Given the description of an element on the screen output the (x, y) to click on. 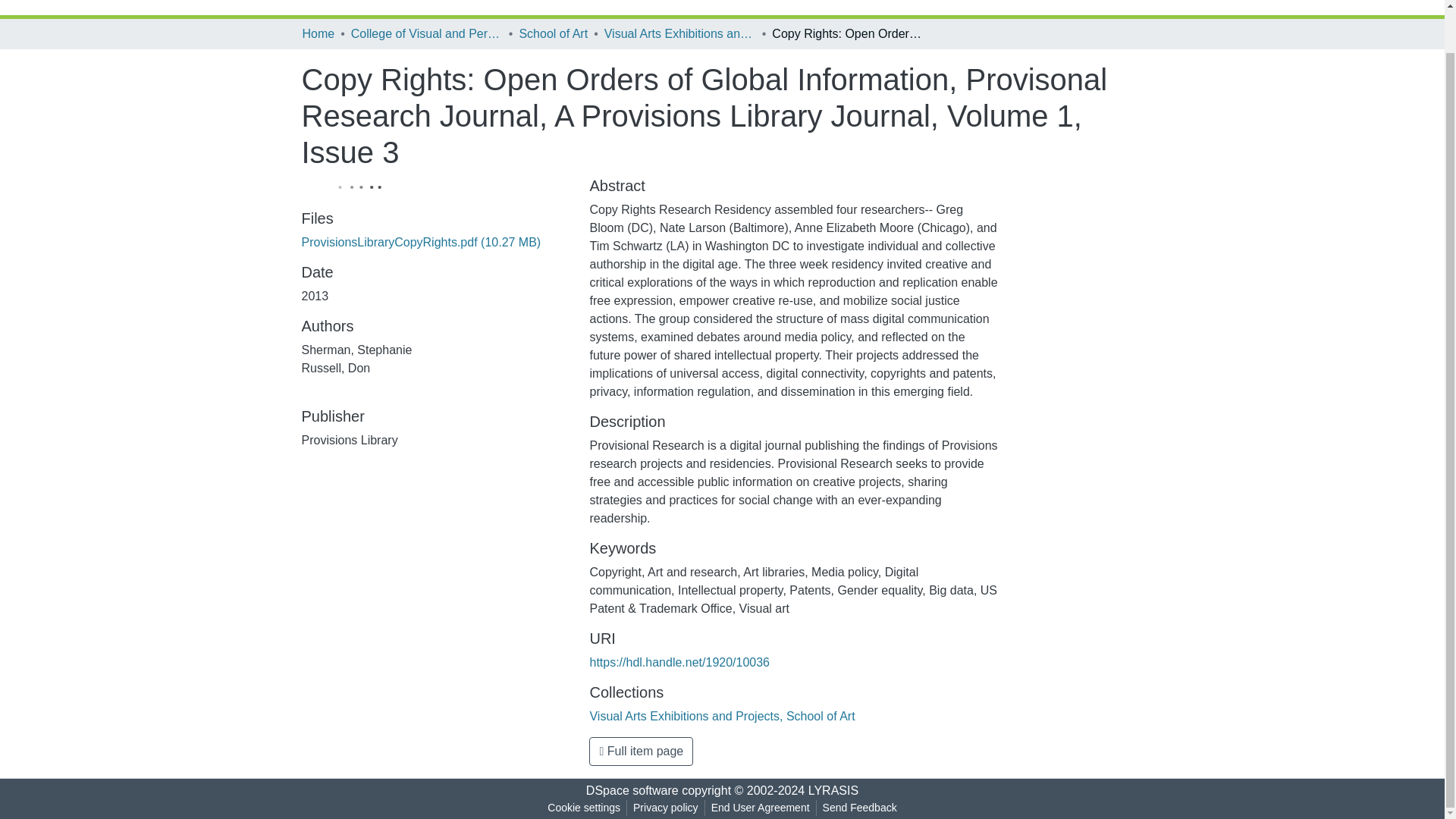
Full item page (641, 751)
End User Agreement (759, 807)
School of Art (553, 34)
LYRASIS (833, 789)
Visual Arts Exhibitions and Projects, School of Art (721, 716)
Visual Arts Exhibitions and Projects, School of Art (679, 34)
Cookie settings (583, 807)
Send Feedback (859, 807)
Home (317, 34)
Privacy policy (665, 807)
DSpace software (632, 789)
College of Visual and Performing Arts (426, 34)
